Given the description of an element on the screen output the (x, y) to click on. 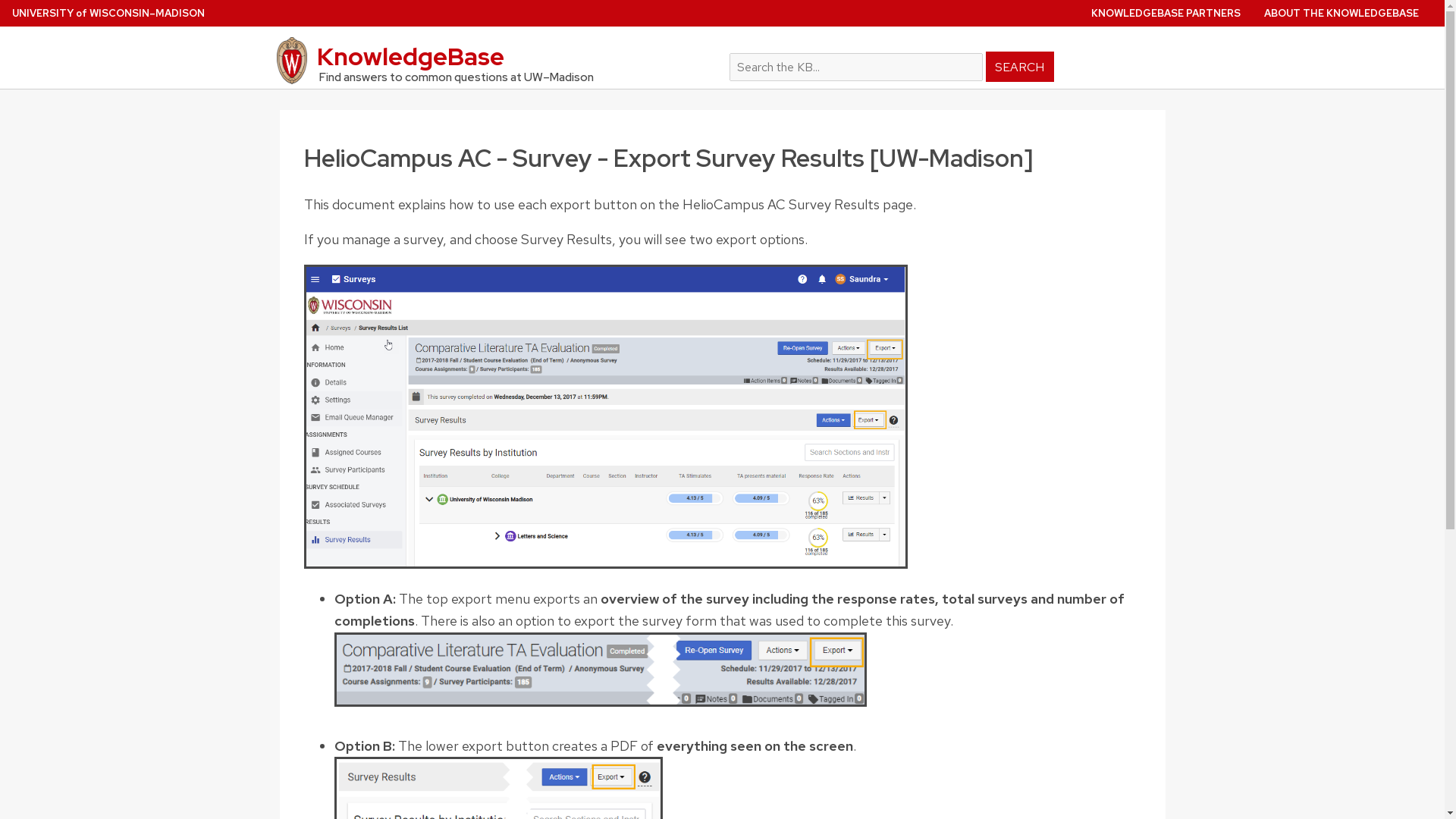
SEARCH (1019, 66)
ABOUT THE KNOWLEDGEBASE (1340, 12)
SEARCH (1019, 66)
KnowledgeBase (491, 60)
SEARCH (1019, 66)
KNOWLEDGEBASE PARTNERS (1165, 12)
Search (947, 57)
